Given the description of an element on the screen output the (x, y) to click on. 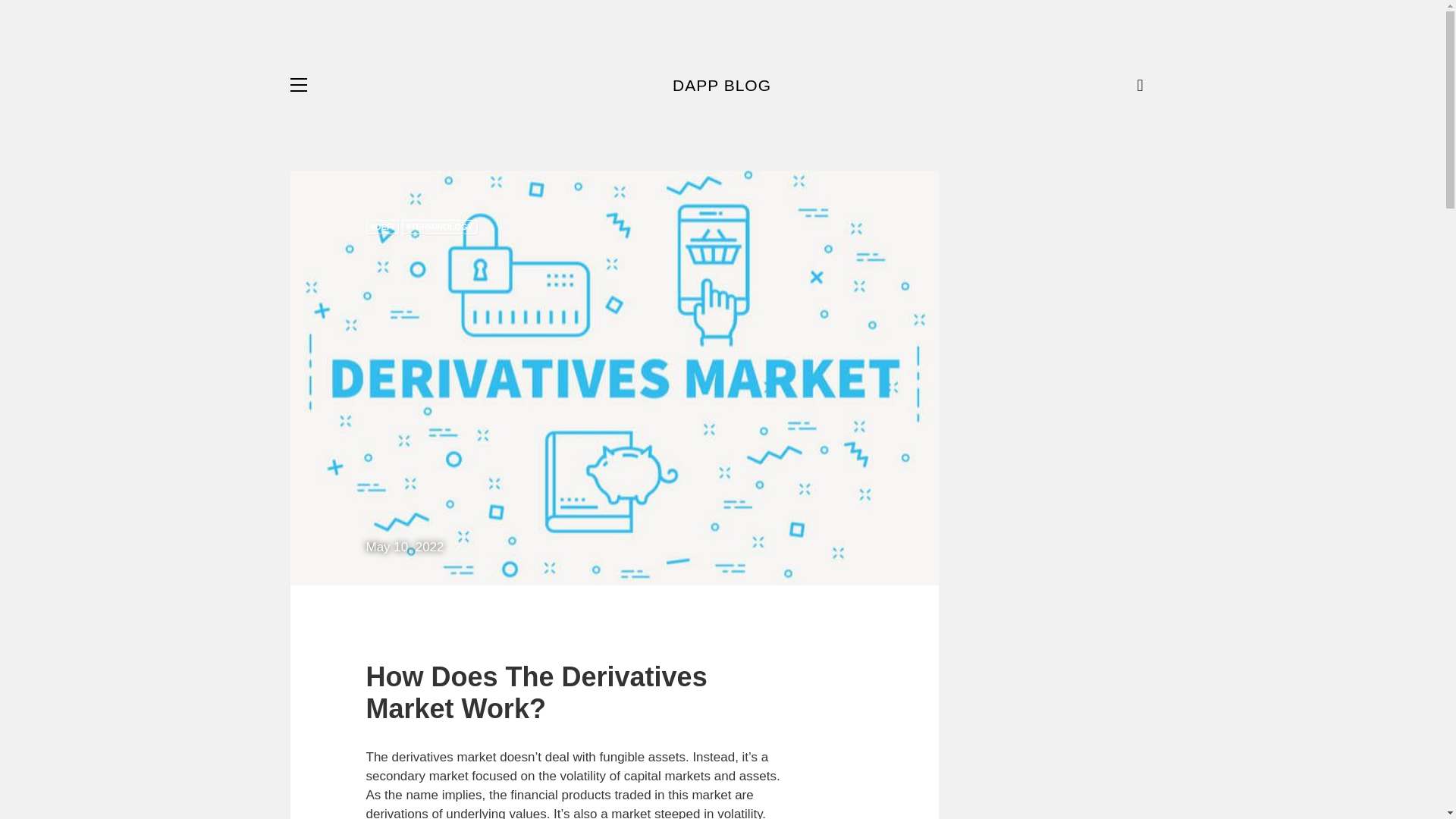
DeFi (381, 227)
DEFI (381, 227)
DAPP BLOG (721, 85)
Menu (297, 85)
DAPP BLOG (721, 85)
Terminology (439, 227)
Search (1145, 85)
TERMINOLOGY (439, 227)
